Given the description of an element on the screen output the (x, y) to click on. 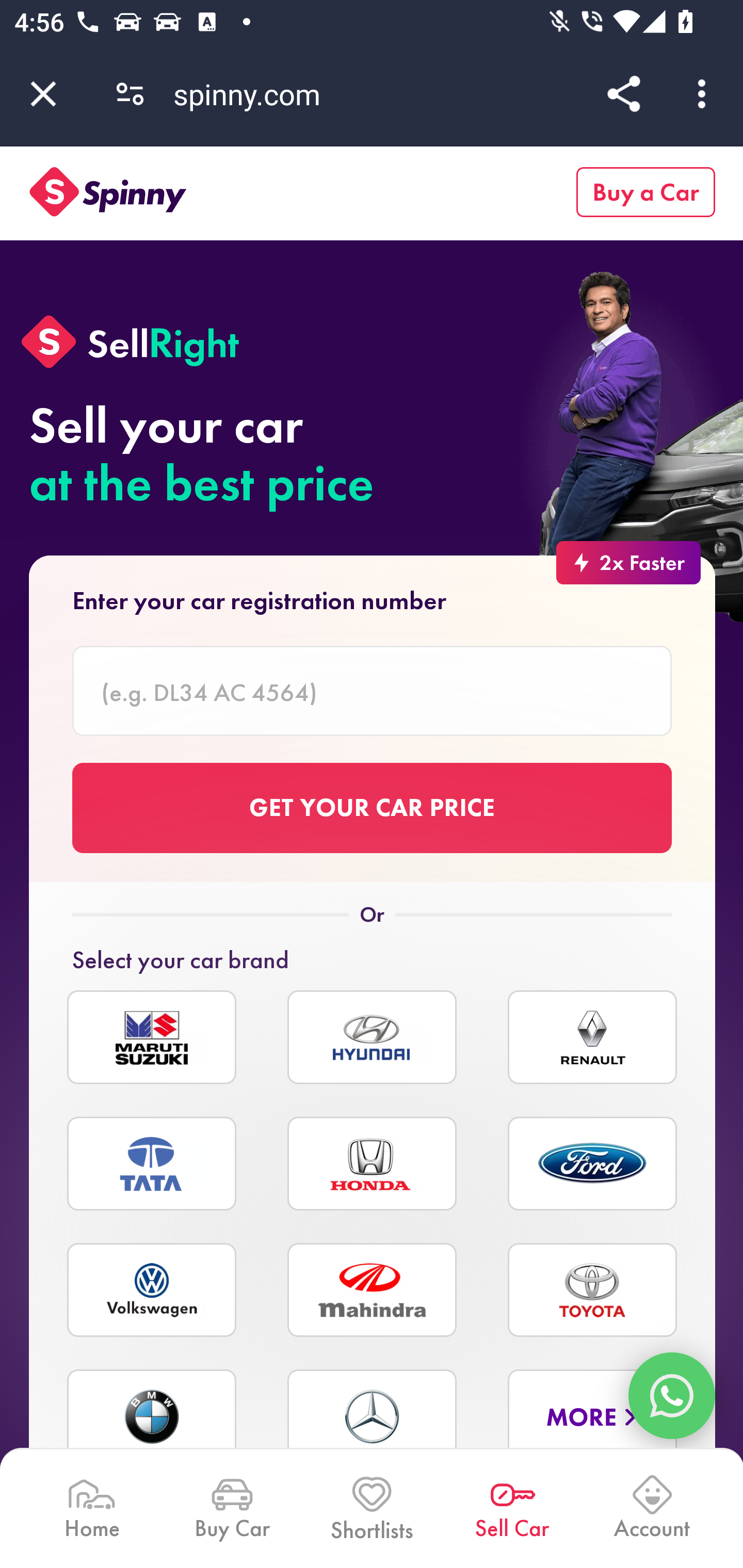
Close tab (43, 93)
Share (623, 93)
Customize and control Google Chrome (705, 93)
Connection is secure (129, 93)
spinny.com (254, 93)
Buy a Car (645, 191)
GET YOUR CAR PRICE (372, 807)
Home (92, 1506)
Buy Car (231, 1506)
Sell Car (511, 1506)
